Given the description of an element on the screen output the (x, y) to click on. 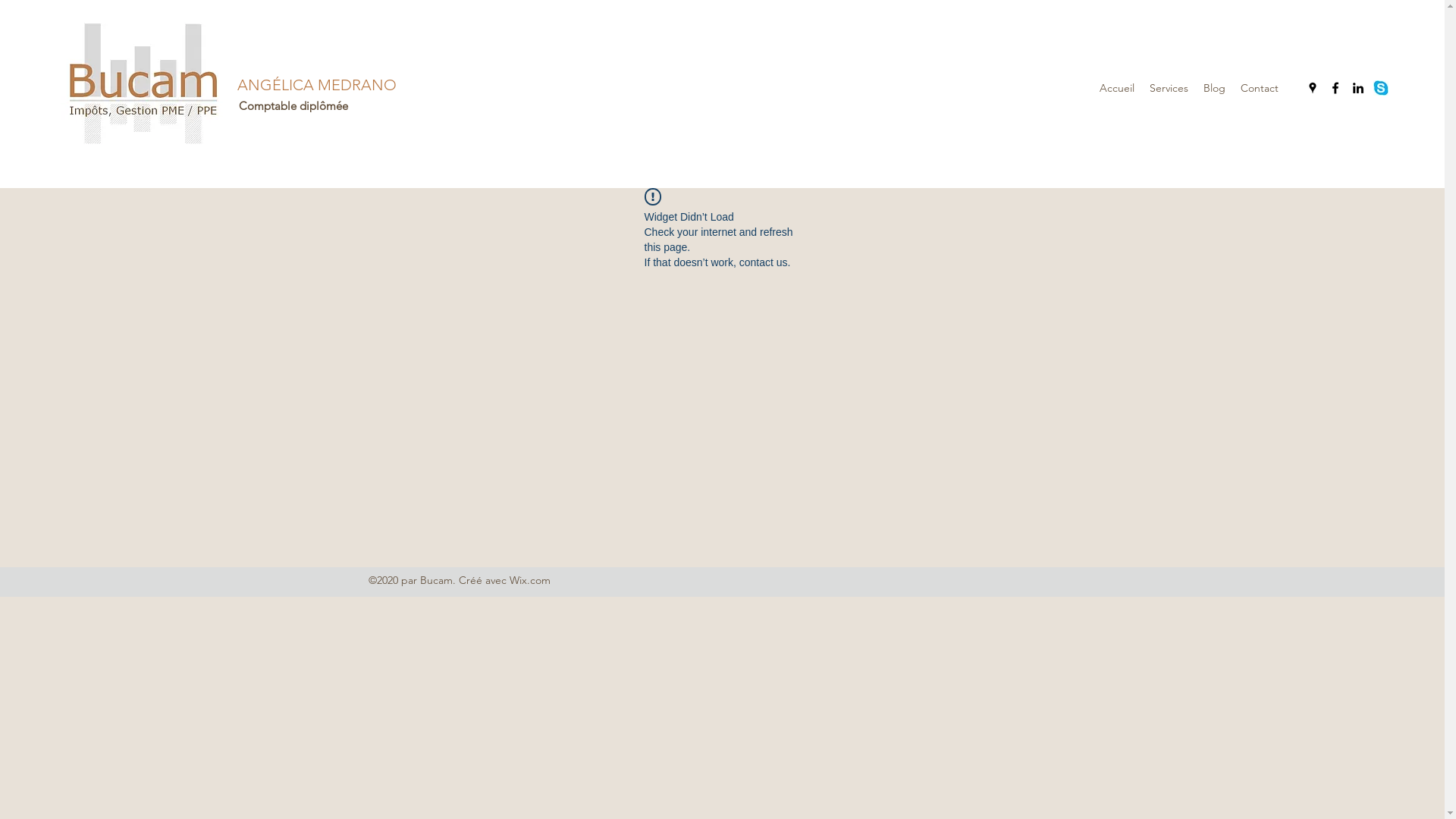
Blog Element type: text (1214, 87)
Contact Element type: text (1259, 87)
Accueil Element type: text (1117, 87)
